Given the description of an element on the screen output the (x, y) to click on. 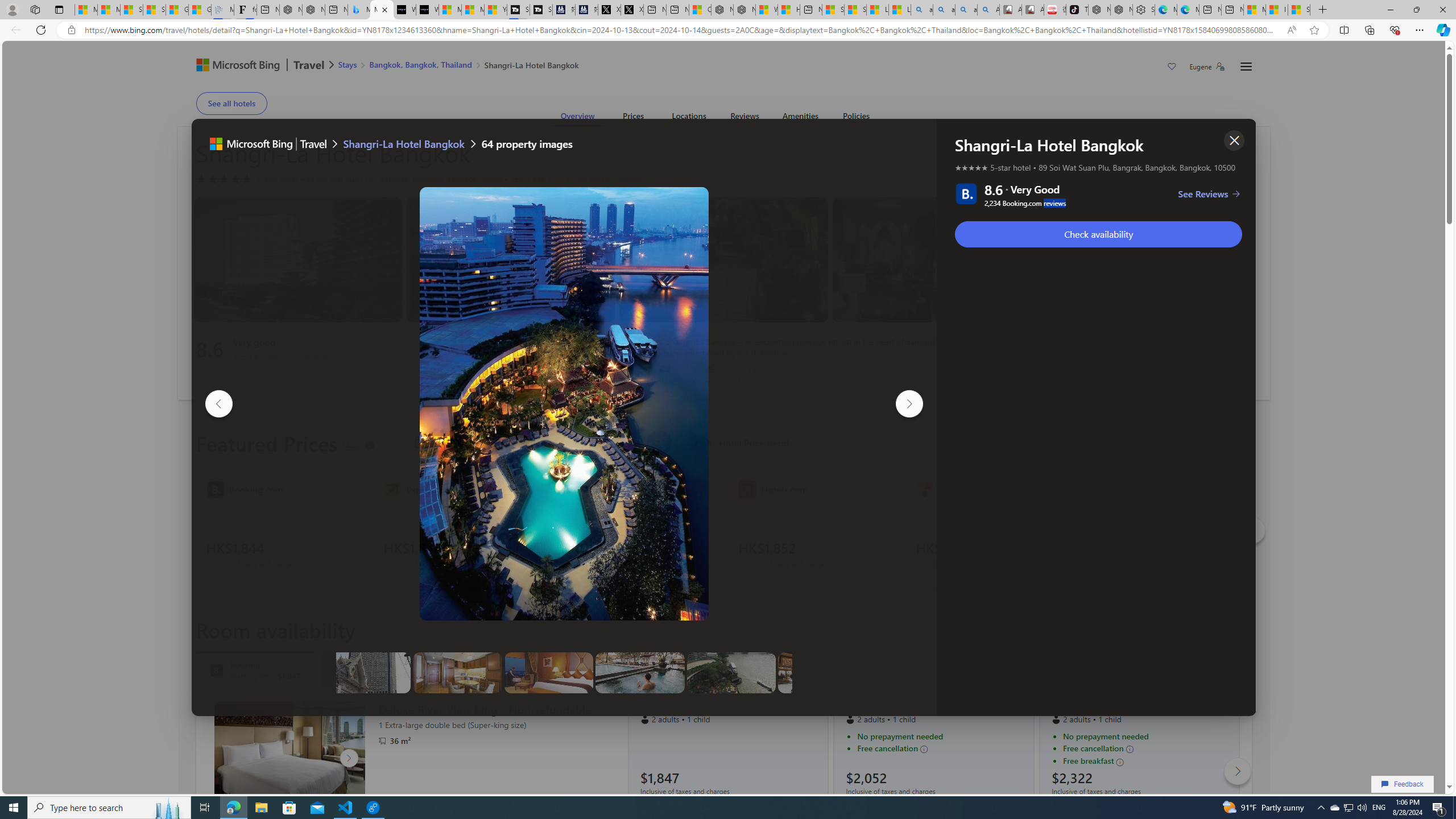
TikTok (1077, 9)
